Given the description of an element on the screen output the (x, y) to click on. 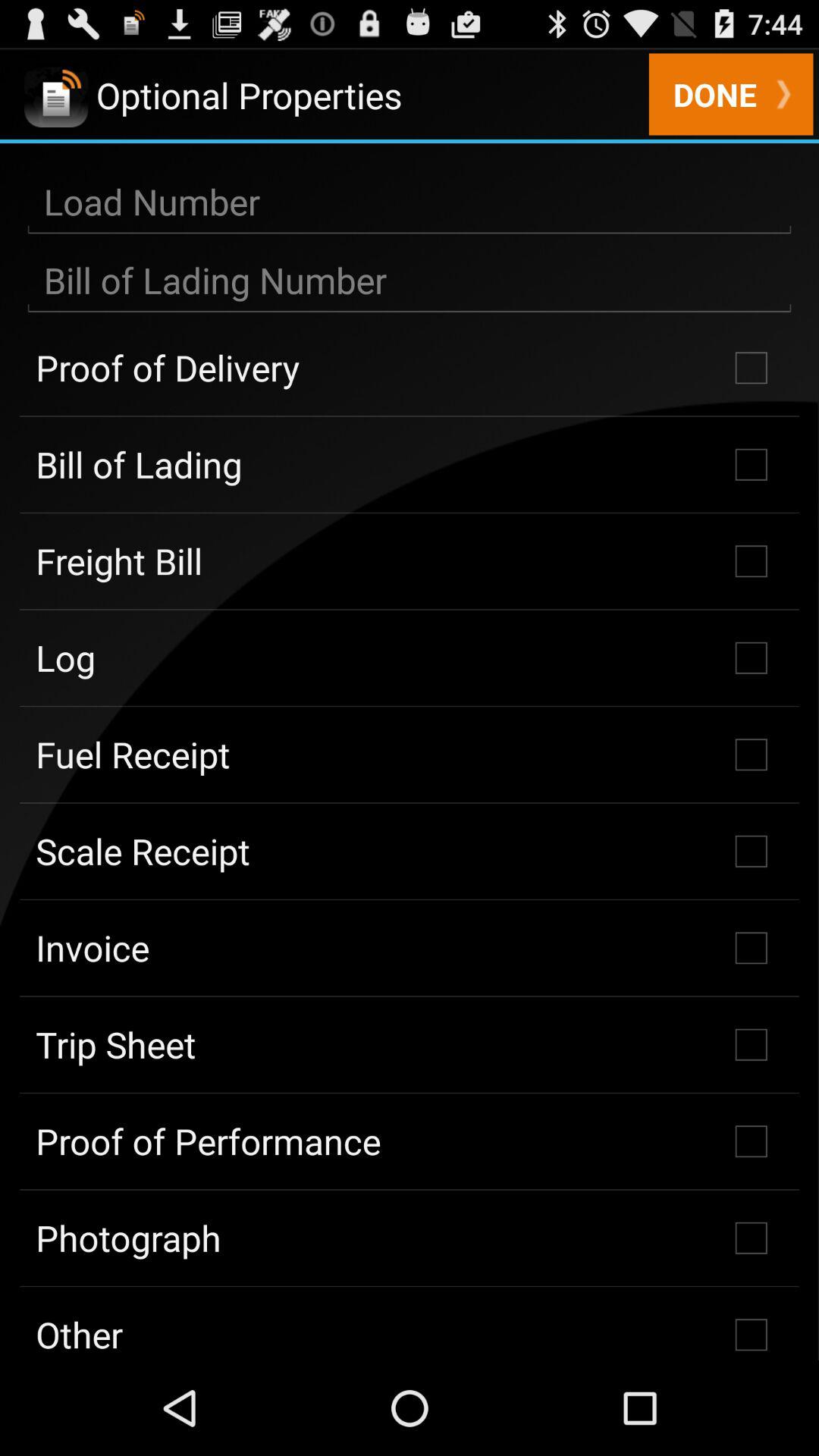
input data (409, 202)
